Given the description of an element on the screen output the (x, y) to click on. 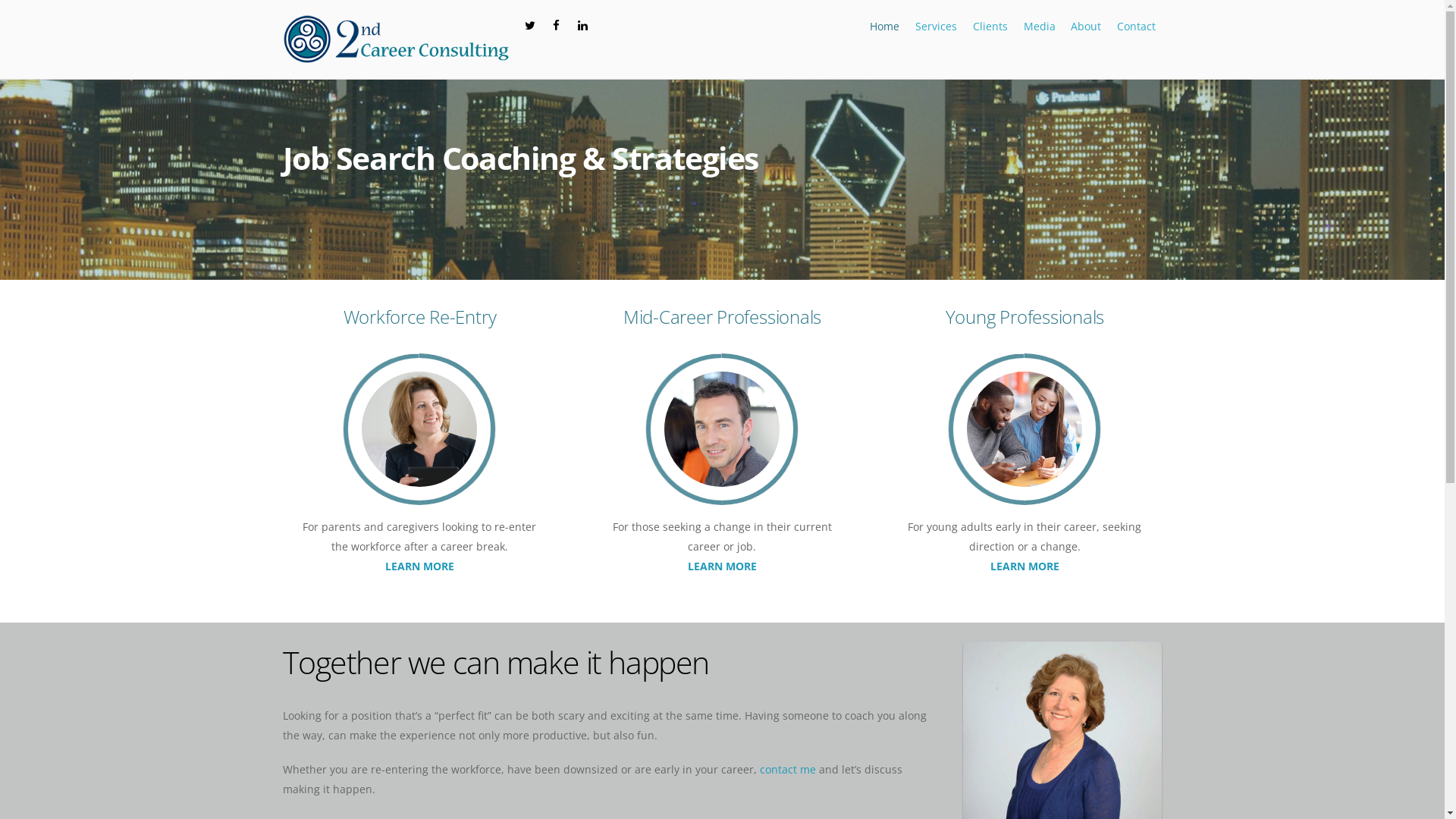
Home Element type: text (884, 26)
LEARN MORE Element type: text (419, 565)
Clients Element type: text (989, 26)
About Element type: text (1085, 26)
Contact Element type: text (1136, 26)
Services Element type: text (936, 26)
LEARN MORE Element type: text (1024, 565)
2nd Career Consulting Element type: hover (395, 55)
LEARN MORE Element type: text (721, 565)
2nd Career Consulting Element type: hover (395, 38)
Media Element type: text (1038, 26)
contact me Element type: text (787, 769)
